Given the description of an element on the screen output the (x, y) to click on. 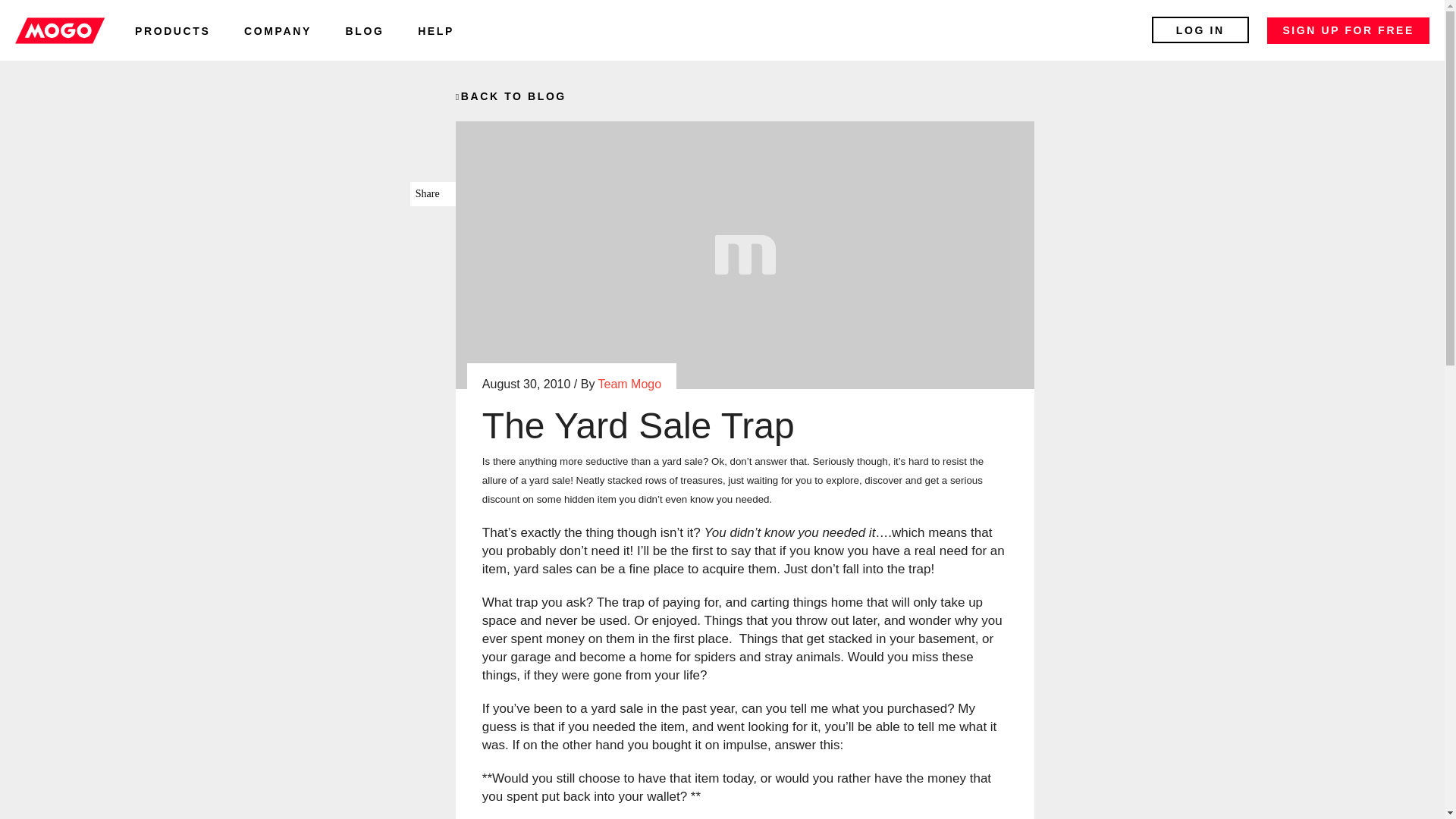
LOG IN (1200, 29)
SIGN UP FOR FREE (1347, 30)
COMPANY (277, 30)
PRODUCTS (172, 30)
BACK TO BLOG (510, 95)
